Given the description of an element on the screen output the (x, y) to click on. 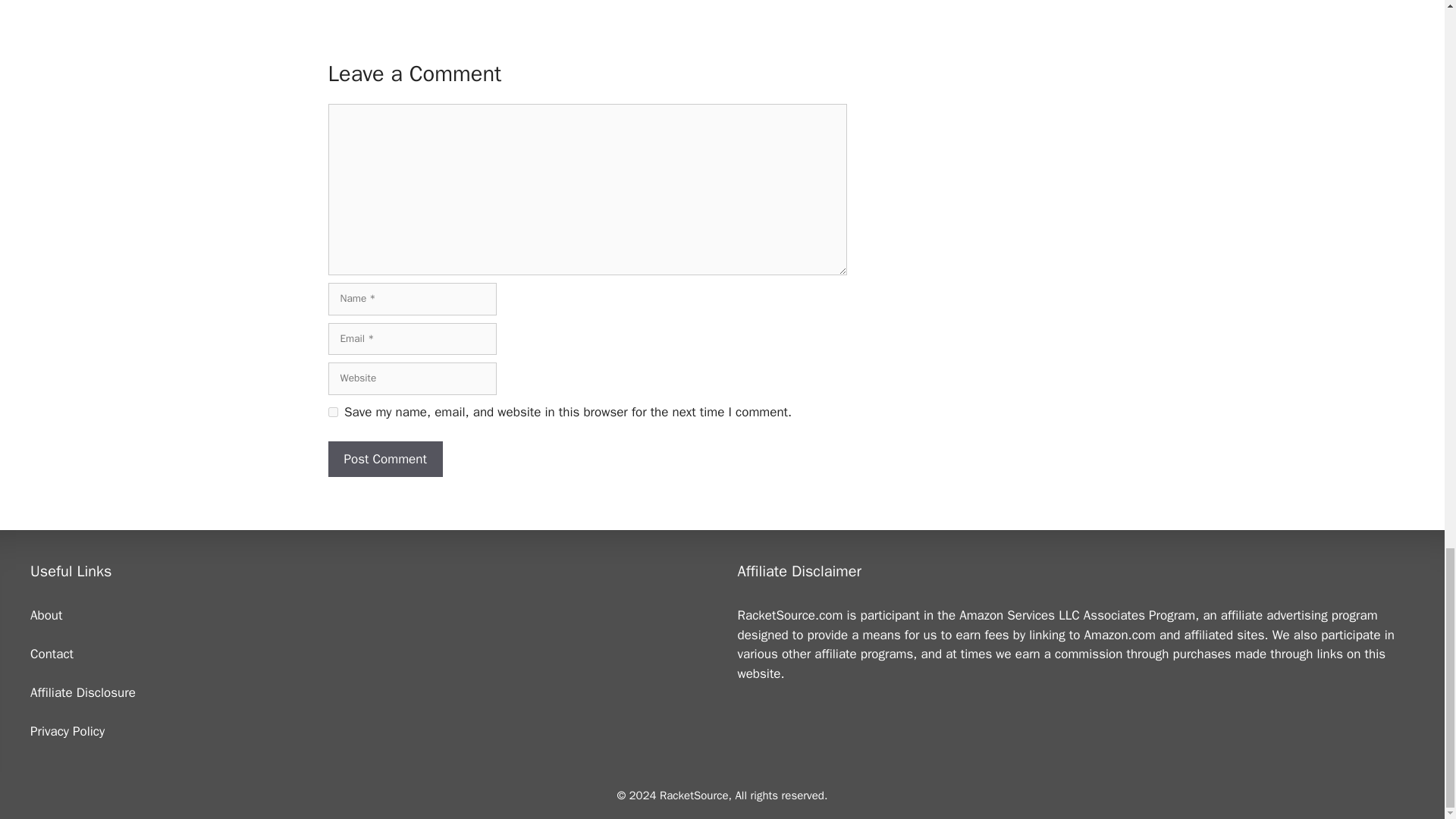
yes (332, 411)
Privacy Policy (67, 731)
About (46, 615)
Contact (52, 653)
Post Comment (384, 459)
Post Comment (384, 459)
Affiliate Disclosure (82, 692)
